Given the description of an element on the screen output the (x, y) to click on. 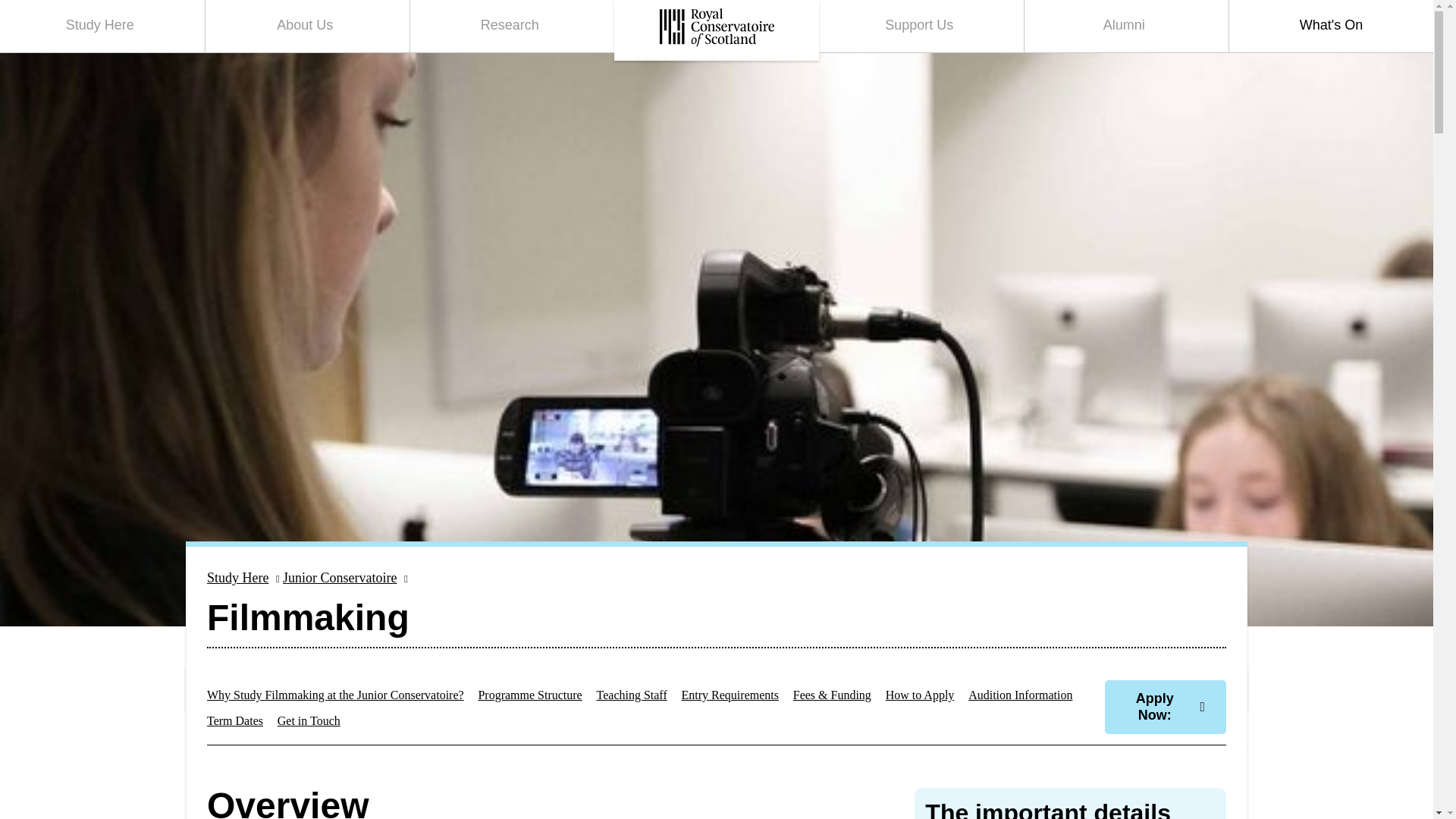
Royal Conservatoire of Scotland (716, 30)
Royal Conservatoire of Scotland (102, 26)
